Given the description of an element on the screen output the (x, y) to click on. 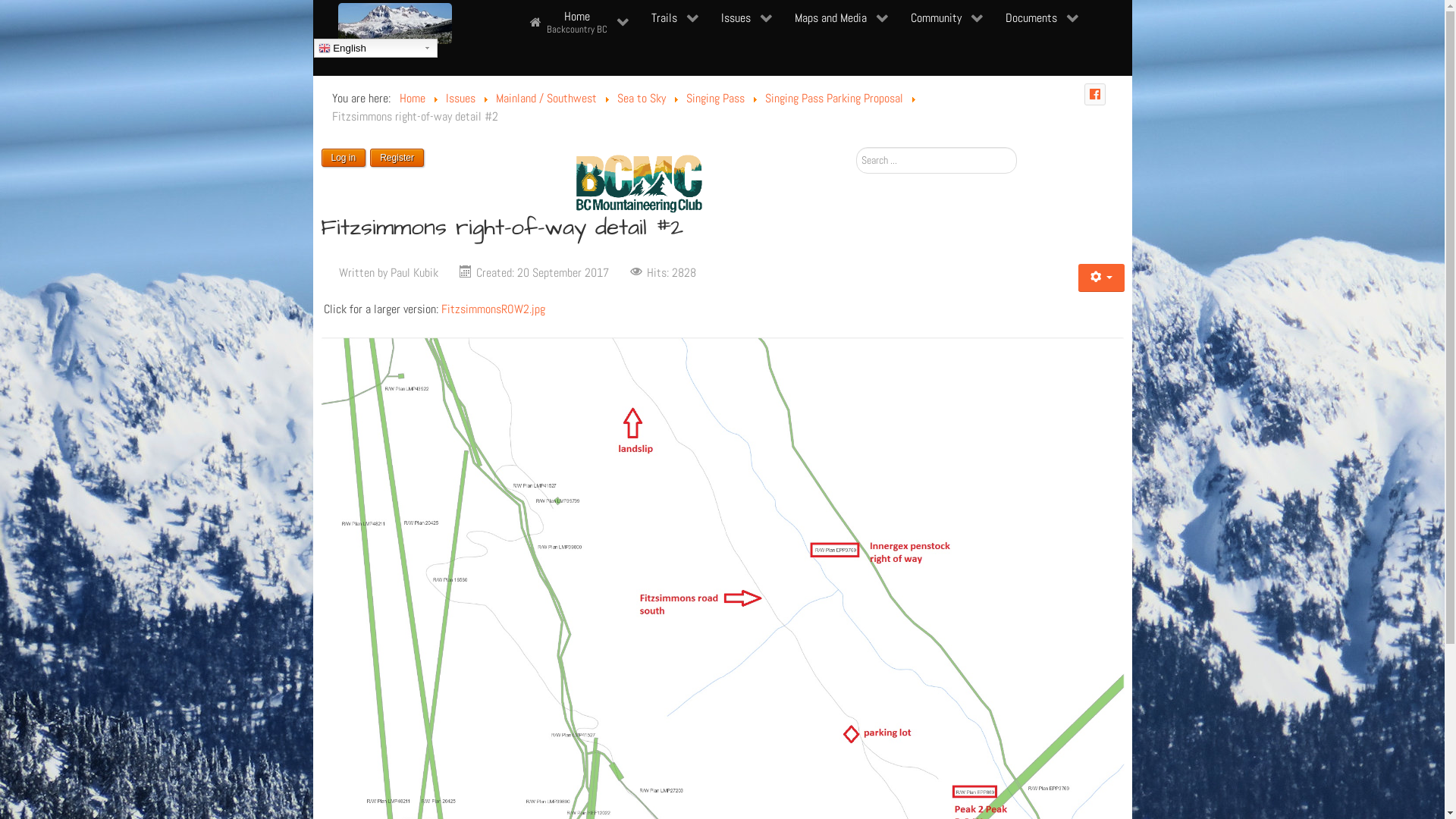
Sea to Sky Element type: text (641, 98)
Issues Element type: text (460, 98)
Register Element type: text (396, 156)
FitzsimmonsROW2.jpg Element type: text (493, 308)
Singing Pass Parking Proposal Element type: text (833, 98)
Home Element type: text (411, 98)
Backcountry BC Facebook Group Element type: hover (1095, 94)
Singing Pass Element type: text (714, 98)
Mainland / Southwest Element type: text (545, 98)
Log in Element type: text (343, 156)
English Element type: text (375, 47)
